Given the description of an element on the screen output the (x, y) to click on. 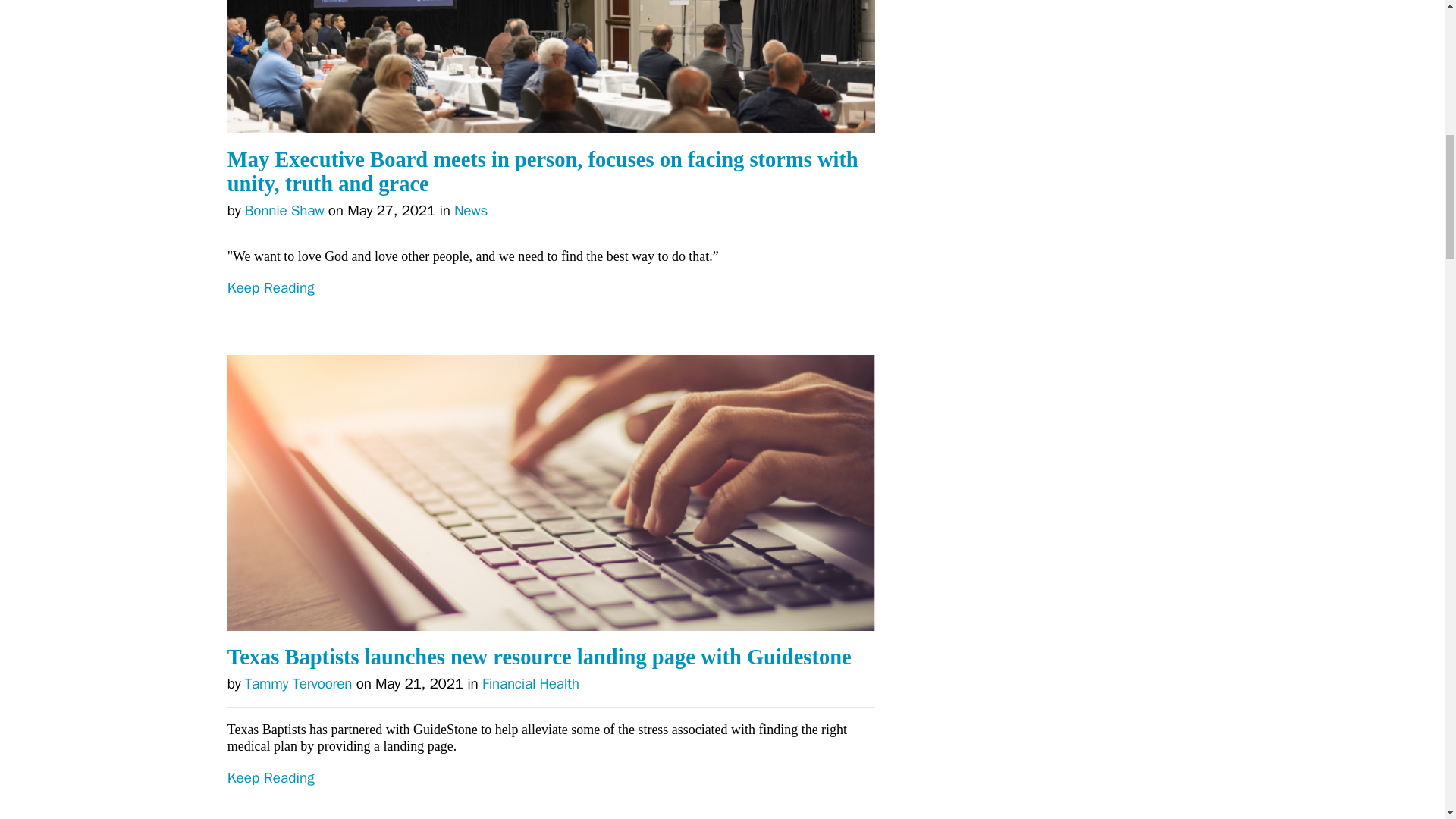
Tammy Tervooren (298, 683)
Financial Health (530, 683)
Keep Reading (551, 794)
Keep Reading (551, 317)
News (470, 210)
Bonnie Shaw (284, 210)
